Given the description of an element on the screen output the (x, y) to click on. 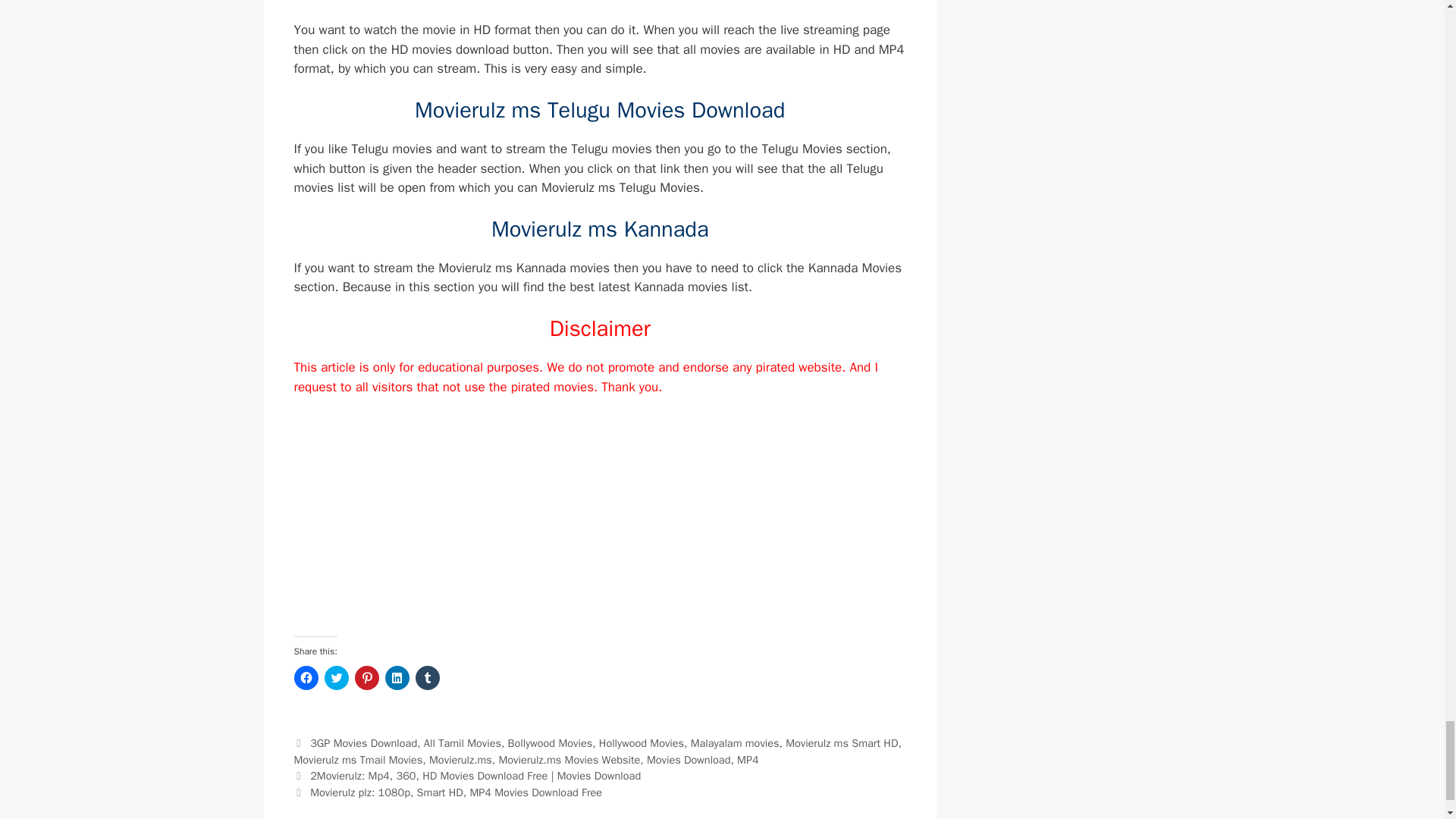
All Tamil Movies (461, 743)
Click to share on Twitter (336, 677)
Movierulz.ms Movies Website (568, 759)
Bollywood Movies (550, 743)
Click to share on Tumblr (426, 677)
MP4 (747, 759)
Click to share on Pinterest (366, 677)
Hollywood Movies (641, 743)
Movierulz.ms (460, 759)
Movierulz ms Smart HD (842, 743)
